Given the description of an element on the screen output the (x, y) to click on. 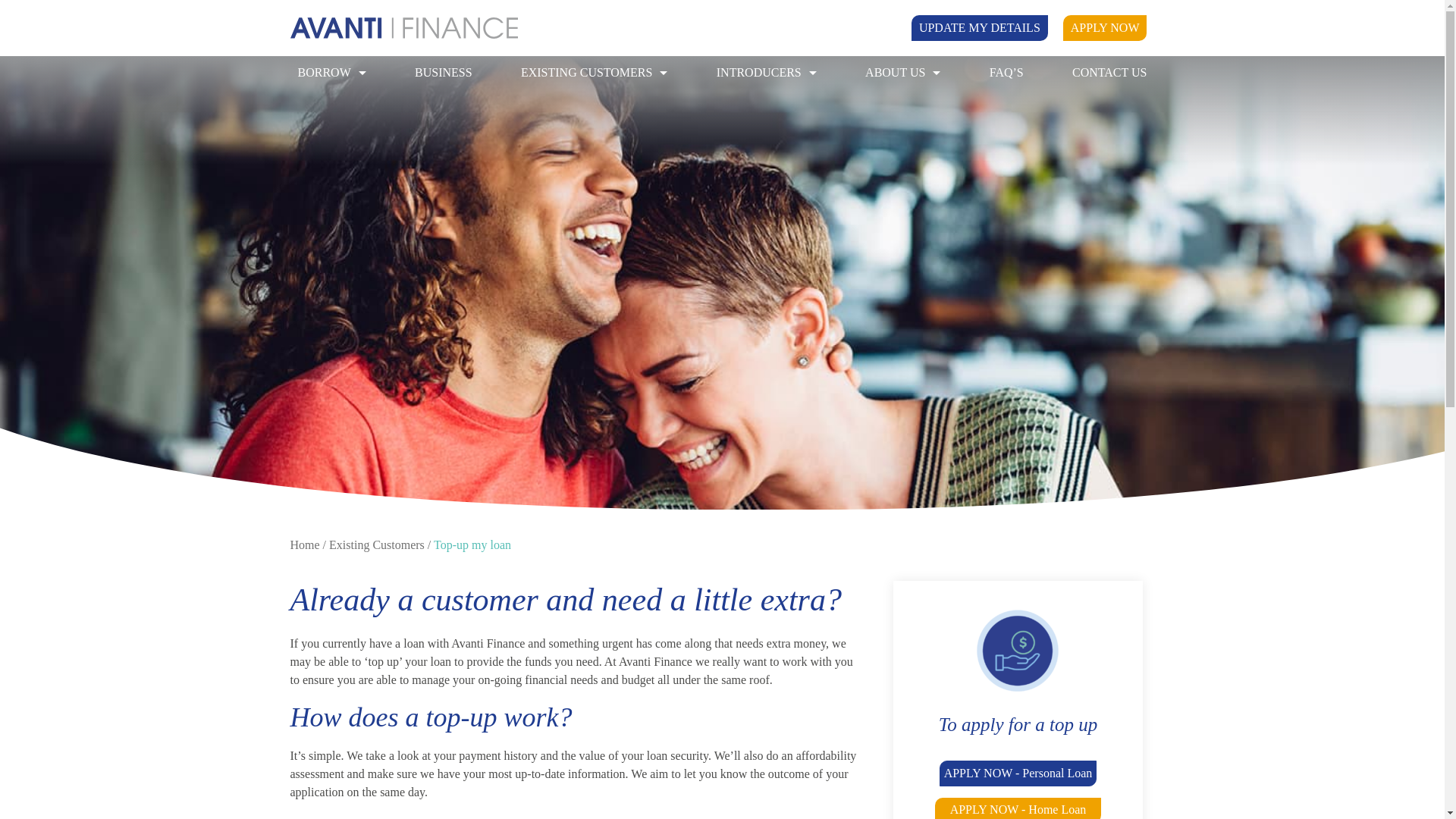
APPLY NOW - Personal Loan (1018, 773)
APPLY NOW (1104, 27)
Home (303, 544)
CONTACT US (1109, 72)
avanti-logo (402, 27)
BORROW (330, 72)
ABOUT US (902, 72)
APPLY NOW - Home Loan (1018, 808)
BUSINESS (443, 72)
EXISTING CUSTOMERS (594, 72)
